Given the description of an element on the screen output the (x, y) to click on. 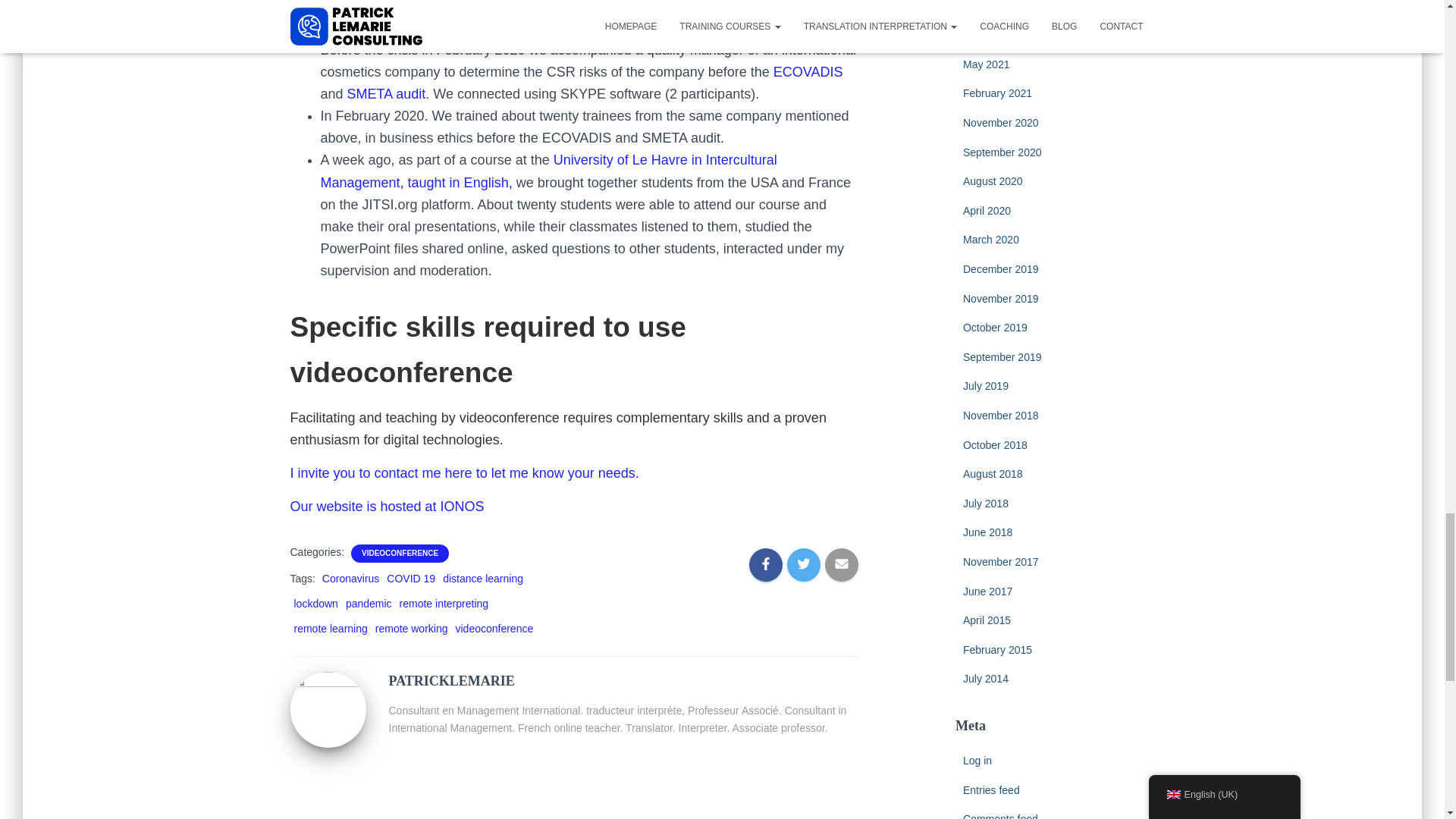
SMETA audit (386, 93)
I invite you to contact me here to let me know your needs. (464, 473)
VIDEOCONFERENCE (399, 552)
Our website is hosted at IONOS (386, 506)
Coronavirus (349, 578)
ECOVADIS (808, 71)
